Given the description of an element on the screen output the (x, y) to click on. 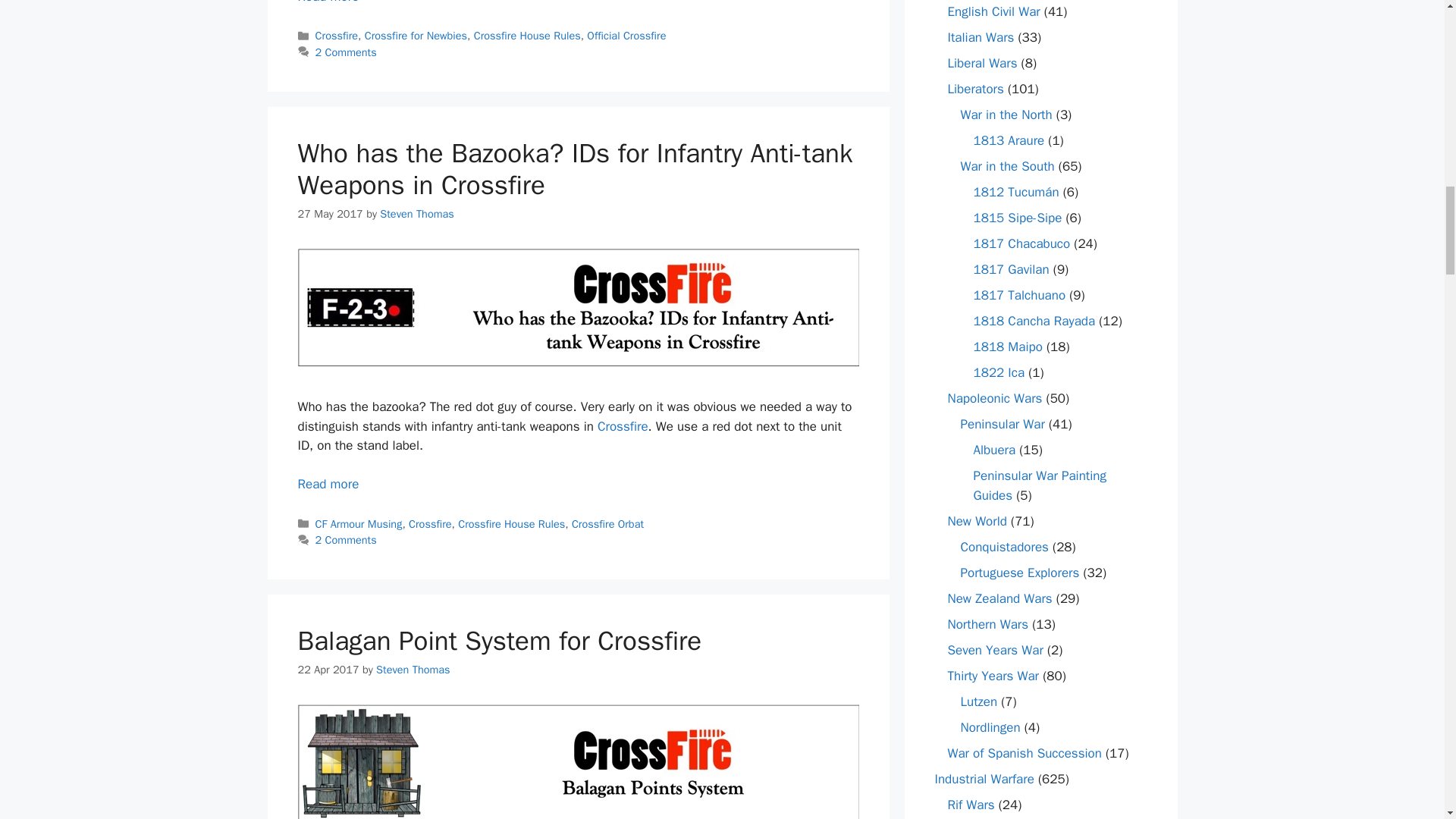
Crossfire Clarifications by Arty Confliffe from 2001 (327, 2)
View all posts by Steven Thomas (416, 213)
View all posts by Steven Thomas (412, 669)
